Given the description of an element on the screen output the (x, y) to click on. 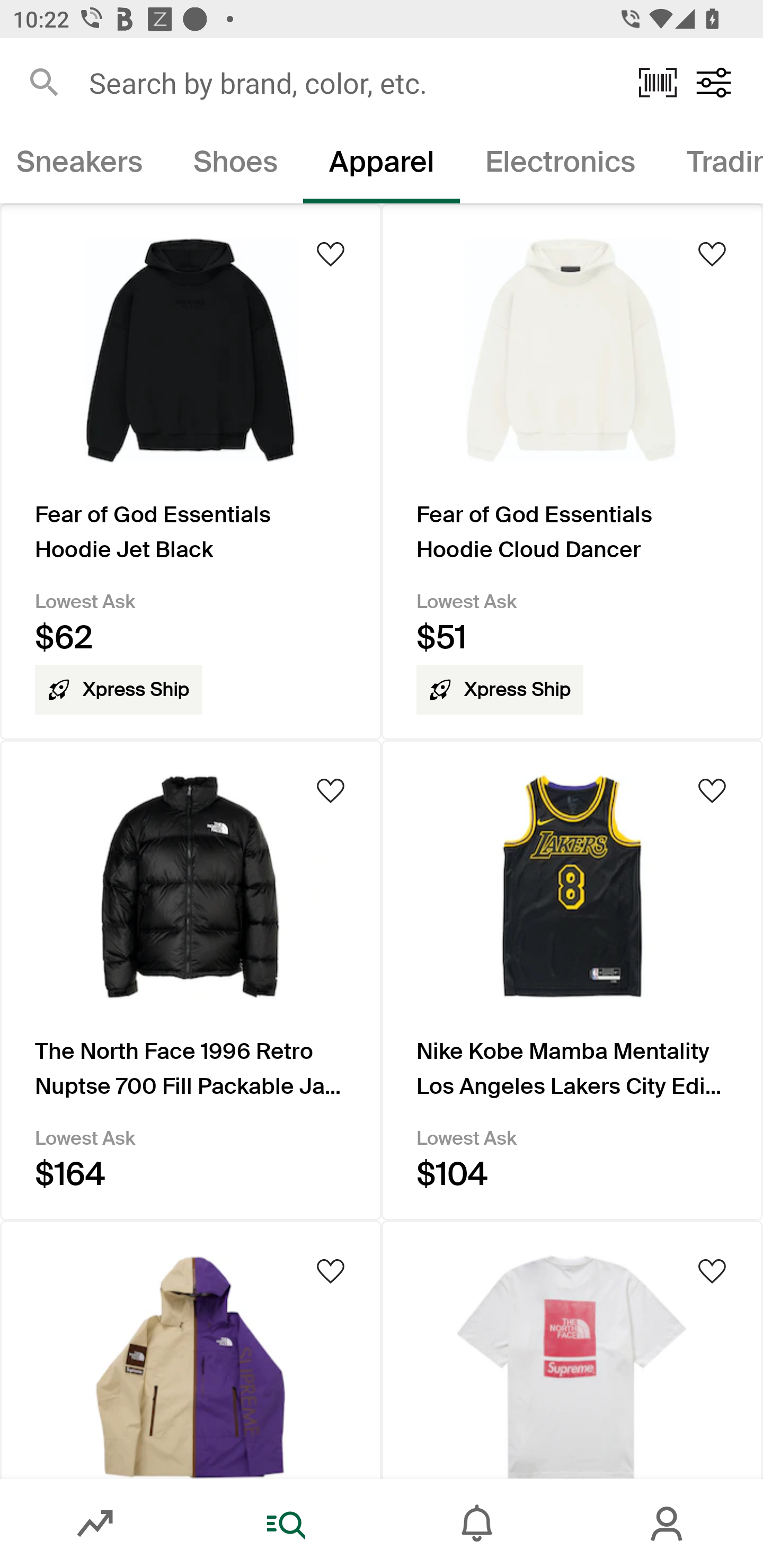
Search by brand, color, etc. (351, 82)
Sneakers (83, 165)
Shoes (234, 165)
Electronics (560, 165)
Product Image (190, 1348)
Product Image (572, 1348)
Market (95, 1523)
Inbox (476, 1523)
Account (667, 1523)
